Given the description of an element on the screen output the (x, y) to click on. 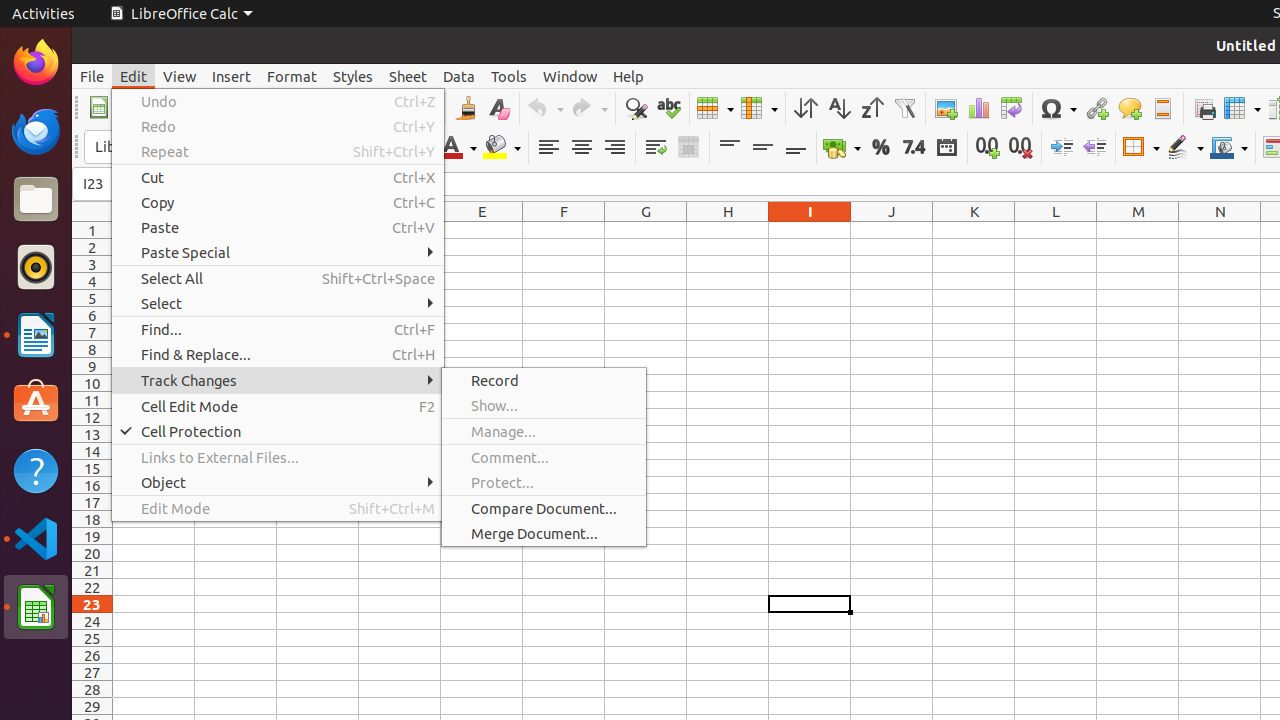
Background Color Element type: push-button (502, 147)
L1 Element type: table-cell (1056, 230)
Redo Element type: push-button (589, 108)
J1 Element type: table-cell (892, 230)
